Given the description of an element on the screen output the (x, y) to click on. 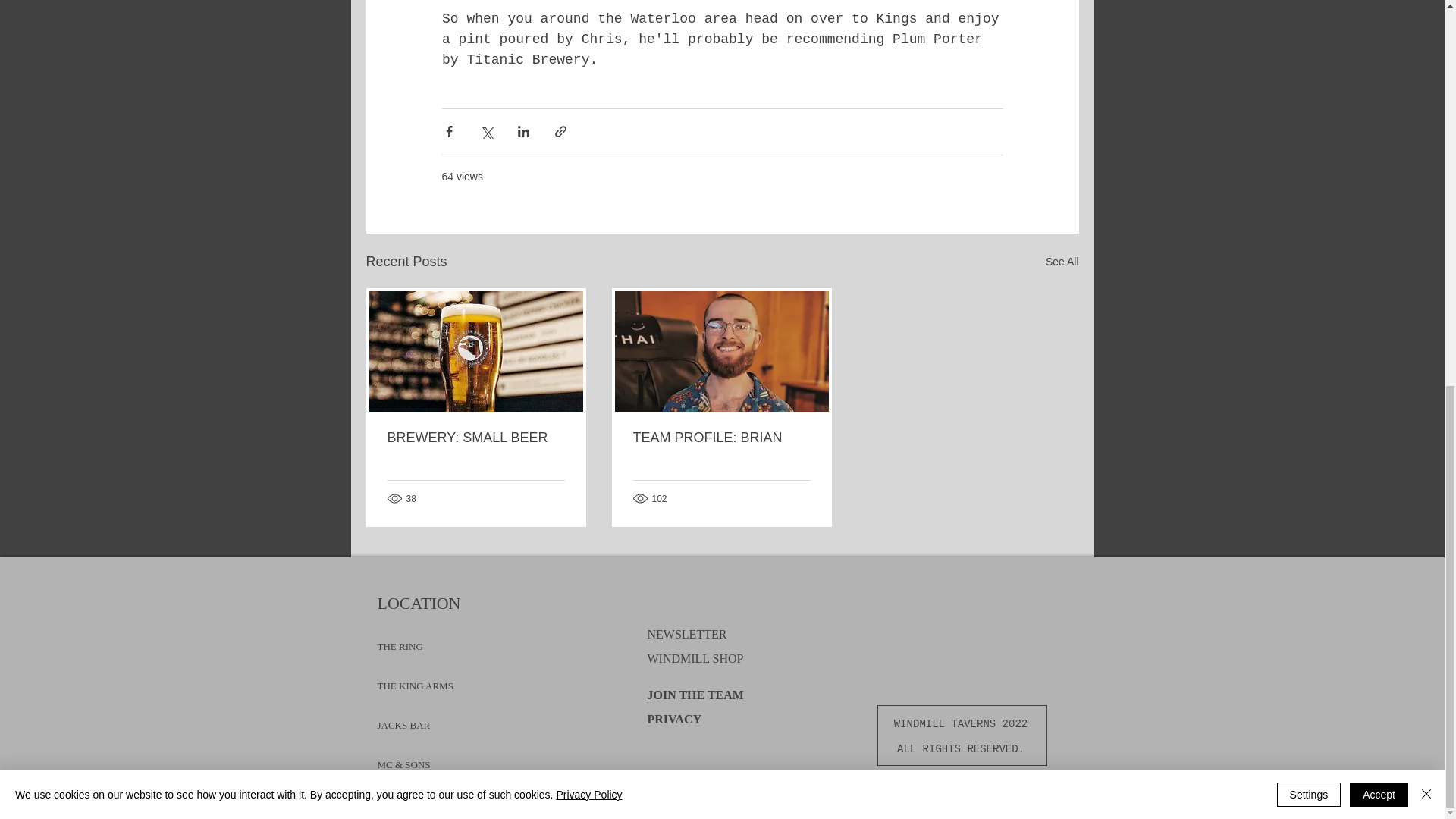
JACKS BAR (403, 718)
WINDMILL TAVERNS 2022 (960, 724)
THE RING (400, 639)
THE KING ARMS (414, 678)
BREWERY: SMALL BEER (475, 437)
NEWSLETTER (686, 634)
See All (1061, 261)
ALL RIGHTS RESERVED. (960, 749)
Accept (1378, 68)
Privacy Policy (588, 68)
